Given the description of an element on the screen output the (x, y) to click on. 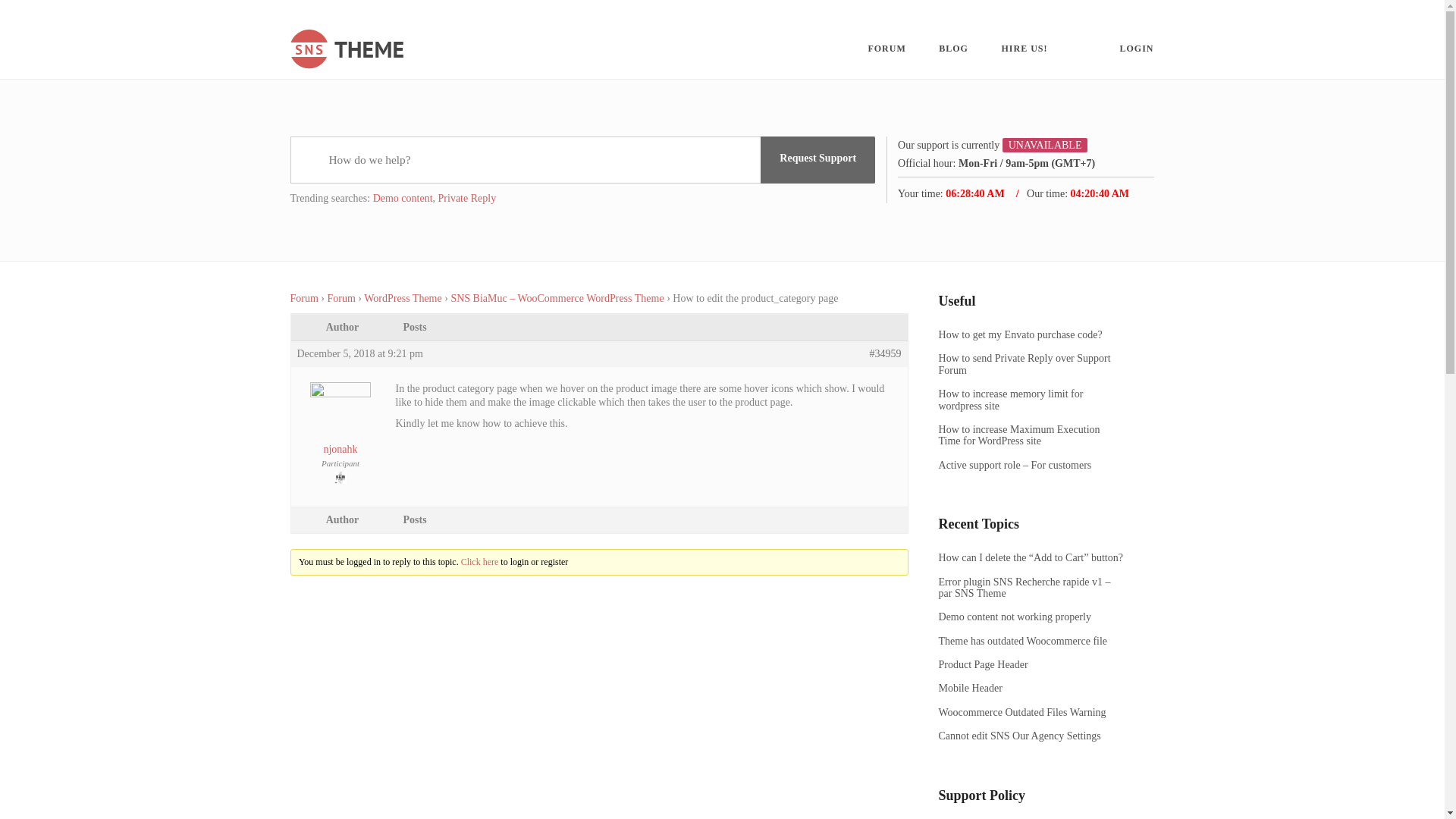
How to get my Envato purchase code? (1031, 334)
demo content not working properly (1031, 616)
BLOG (953, 48)
Request Support (817, 159)
Cannot edit SNS Our Agency Settings (1031, 736)
How to increase Maximum Execution Time for WordPress site (1031, 435)
Forum (303, 297)
Theme has outdated Woocommerce file (1031, 641)
Demo content (402, 197)
Forum (341, 297)
Click here (480, 561)
njonahk (340, 428)
View njonahk's profile (340, 428)
Please login to make request support. (817, 159)
Private Reply (467, 197)
